Given the description of an element on the screen output the (x, y) to click on. 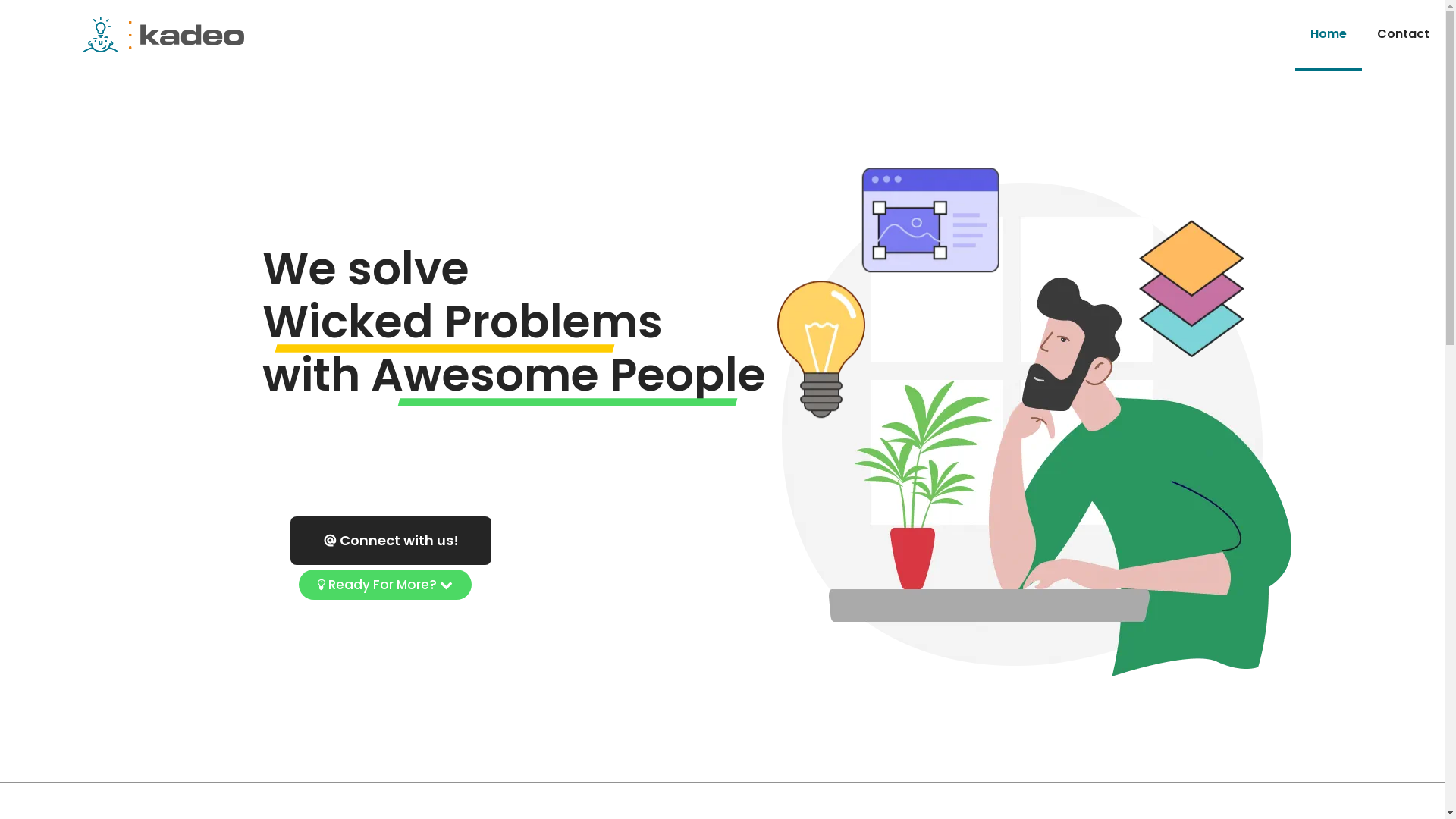
alternate_email Connect with us! Element type: text (389, 540)
Kadeo Element type: hover (166, 34)
Contact Element type: text (1402, 34)
Home Element type: text (1328, 34)
